Given the description of an element on the screen output the (x, y) to click on. 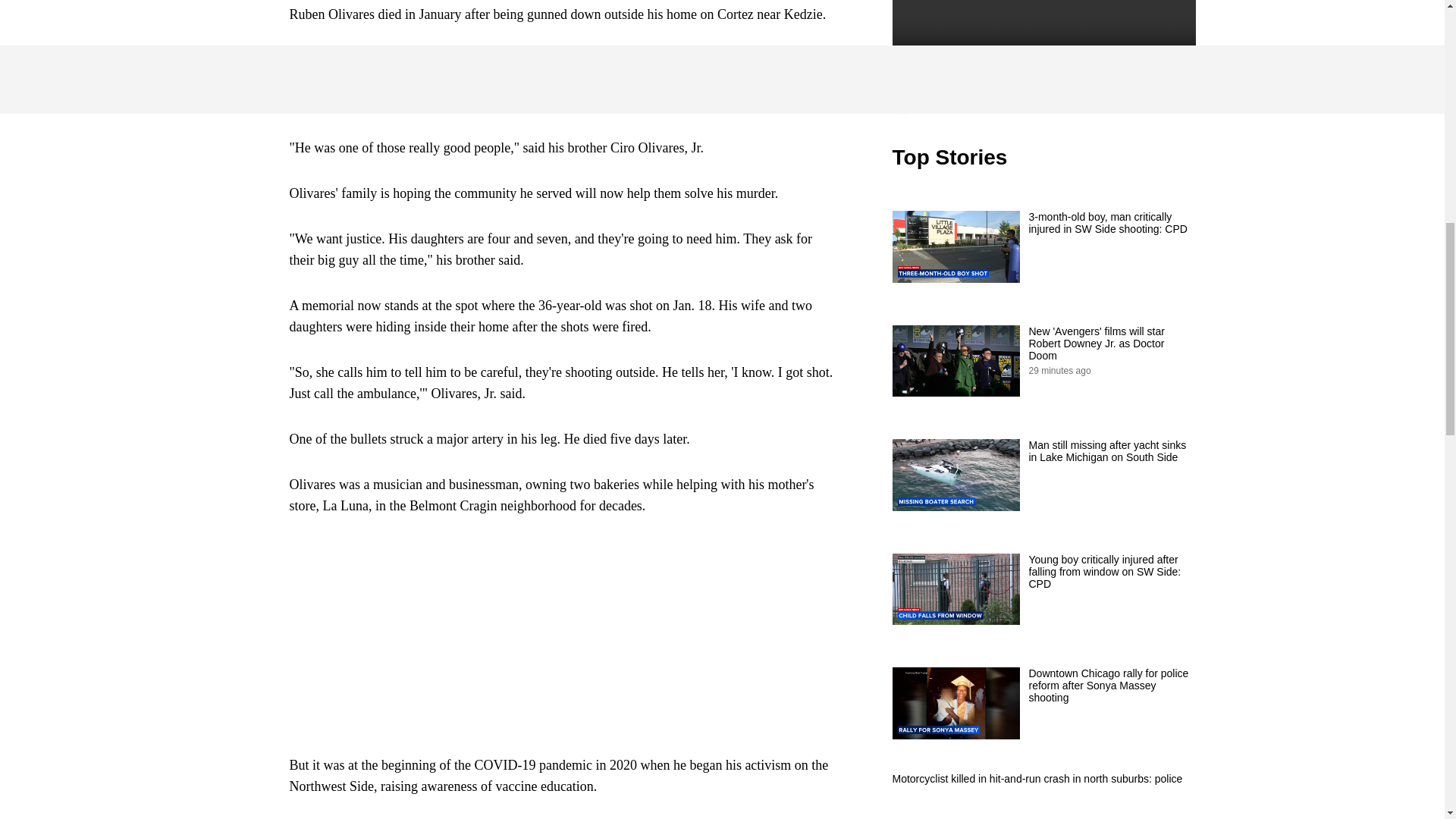
video.title (1043, 48)
